Given the description of an element on the screen output the (x, y) to click on. 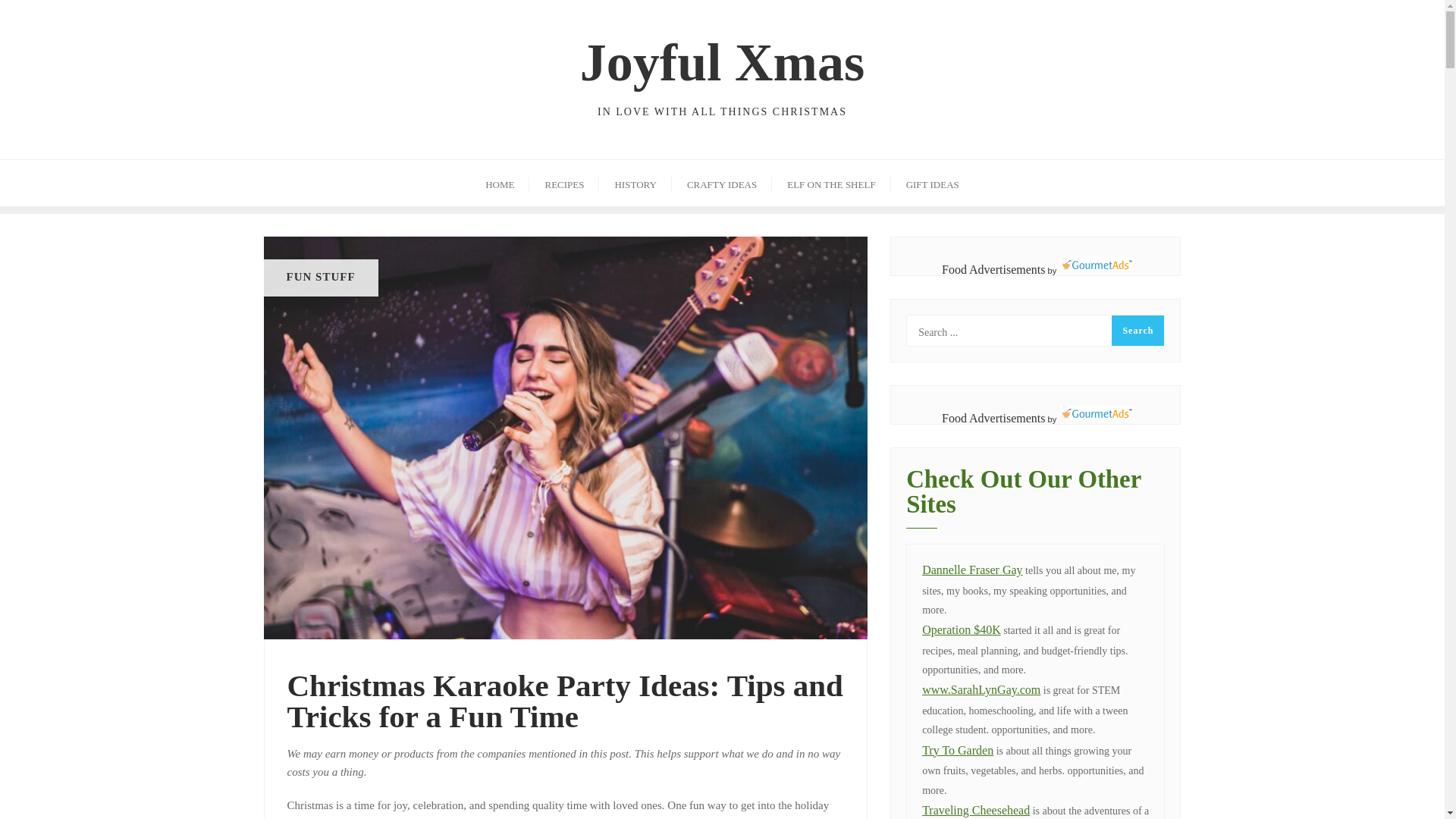
Food Advertisements (993, 269)
Search (1137, 330)
Food Advertisements (993, 418)
Food Advertisements (721, 71)
Food Advertisements (993, 269)
Search (993, 418)
HOME (1137, 330)
CRAFTY IDEAS (499, 182)
RECIPES (721, 182)
HISTORY (563, 182)
GIFT IDEAS (634, 182)
Try To Garden (932, 182)
www.SarahLynGay.com (956, 749)
